Given the description of an element on the screen output the (x, y) to click on. 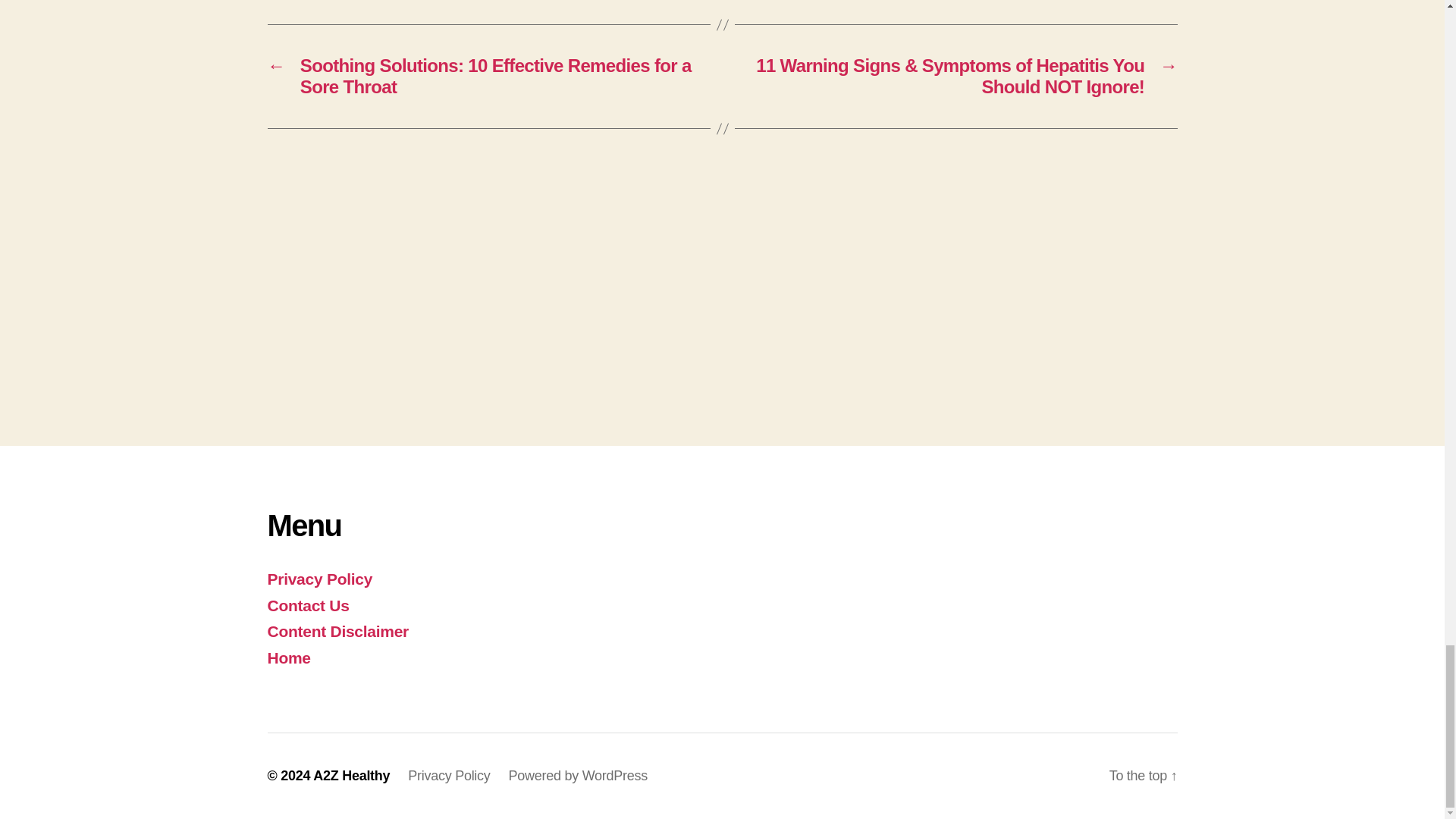
Home (288, 657)
Powered by WordPress (577, 775)
A2Z Healthy (351, 775)
Privacy Policy (448, 775)
Content Disclaimer (337, 630)
Privacy Policy (319, 579)
Contact Us (307, 605)
